Given the description of an element on the screen output the (x, y) to click on. 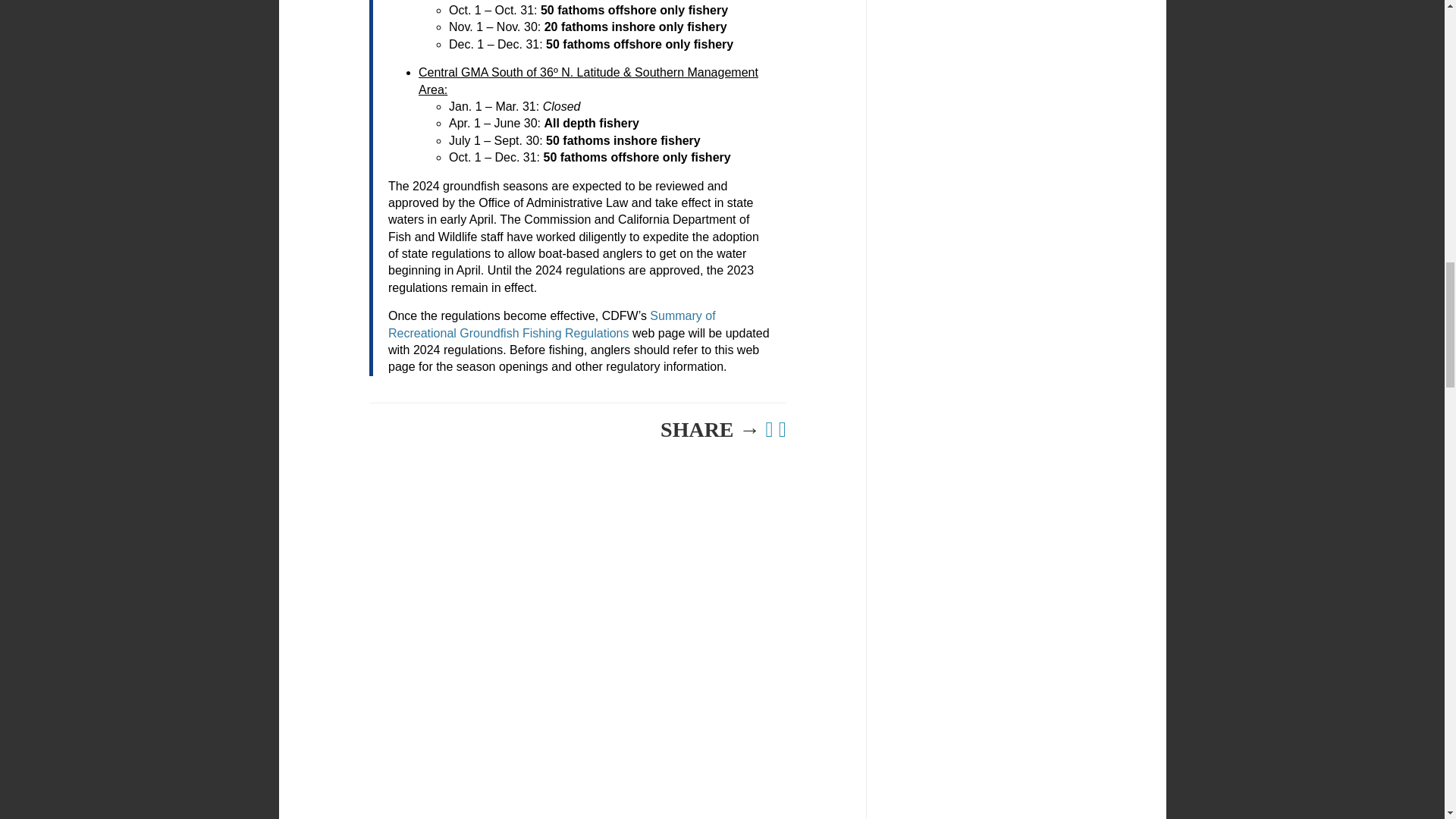
Summary of Recreational Groundfish Fishing Regulations (552, 324)
